Given the description of an element on the screen output the (x, y) to click on. 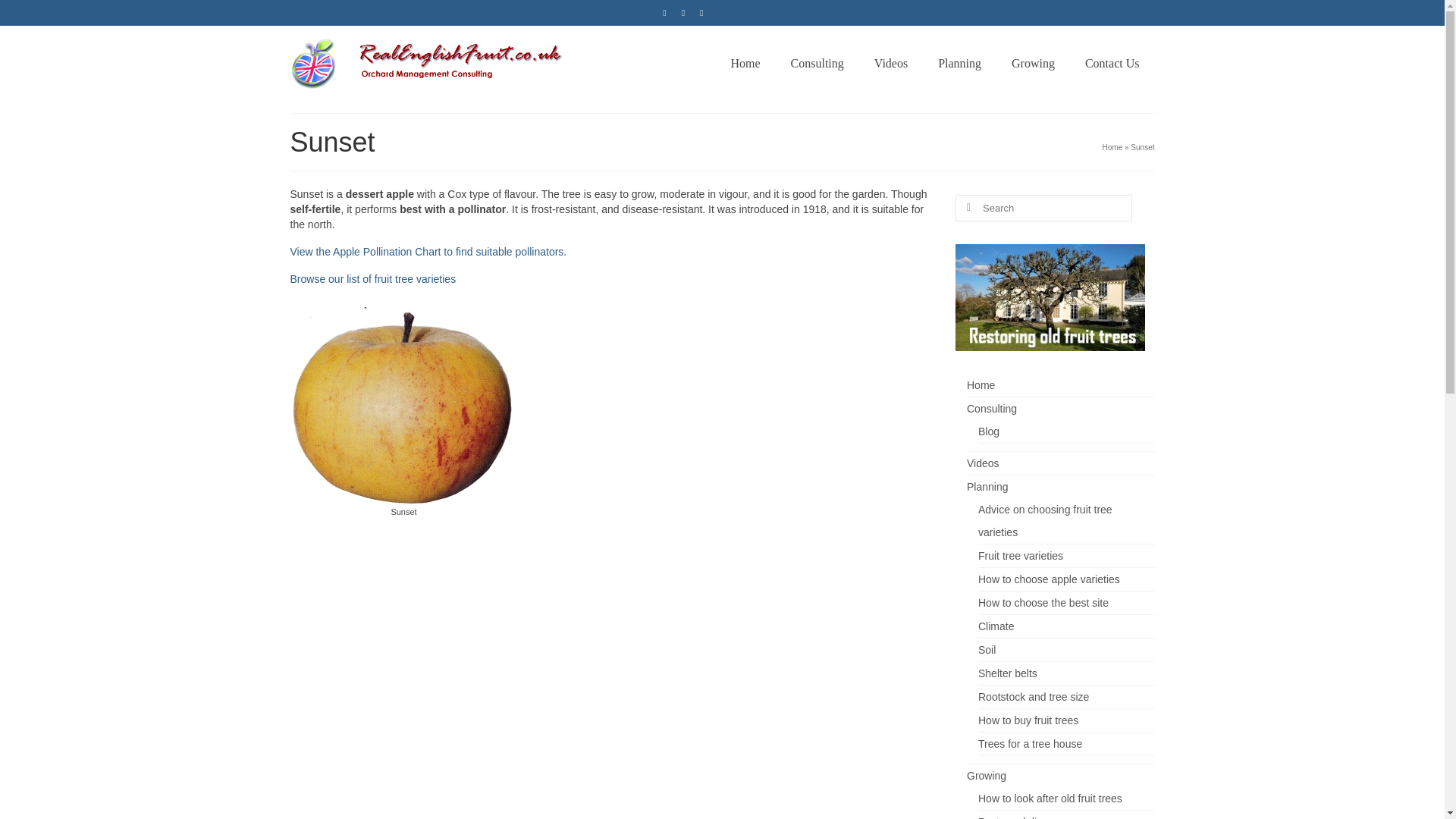
Consulting (817, 63)
Planning (959, 63)
Growing (1032, 63)
